Given the description of an element on the screen output the (x, y) to click on. 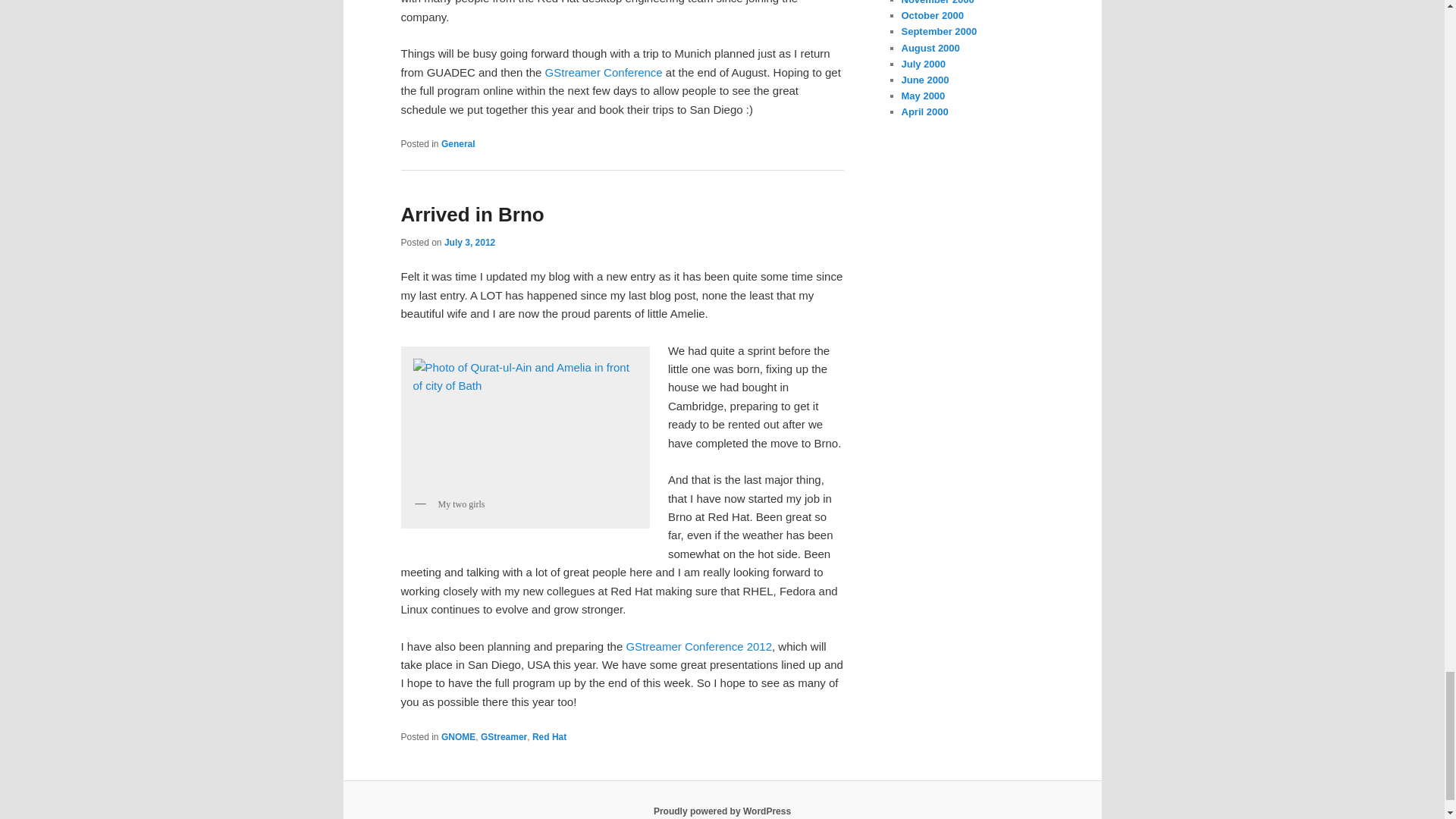
12:29 (469, 242)
Semantic Personal Publishing Platform (721, 810)
